Given the description of an element on the screen output the (x, y) to click on. 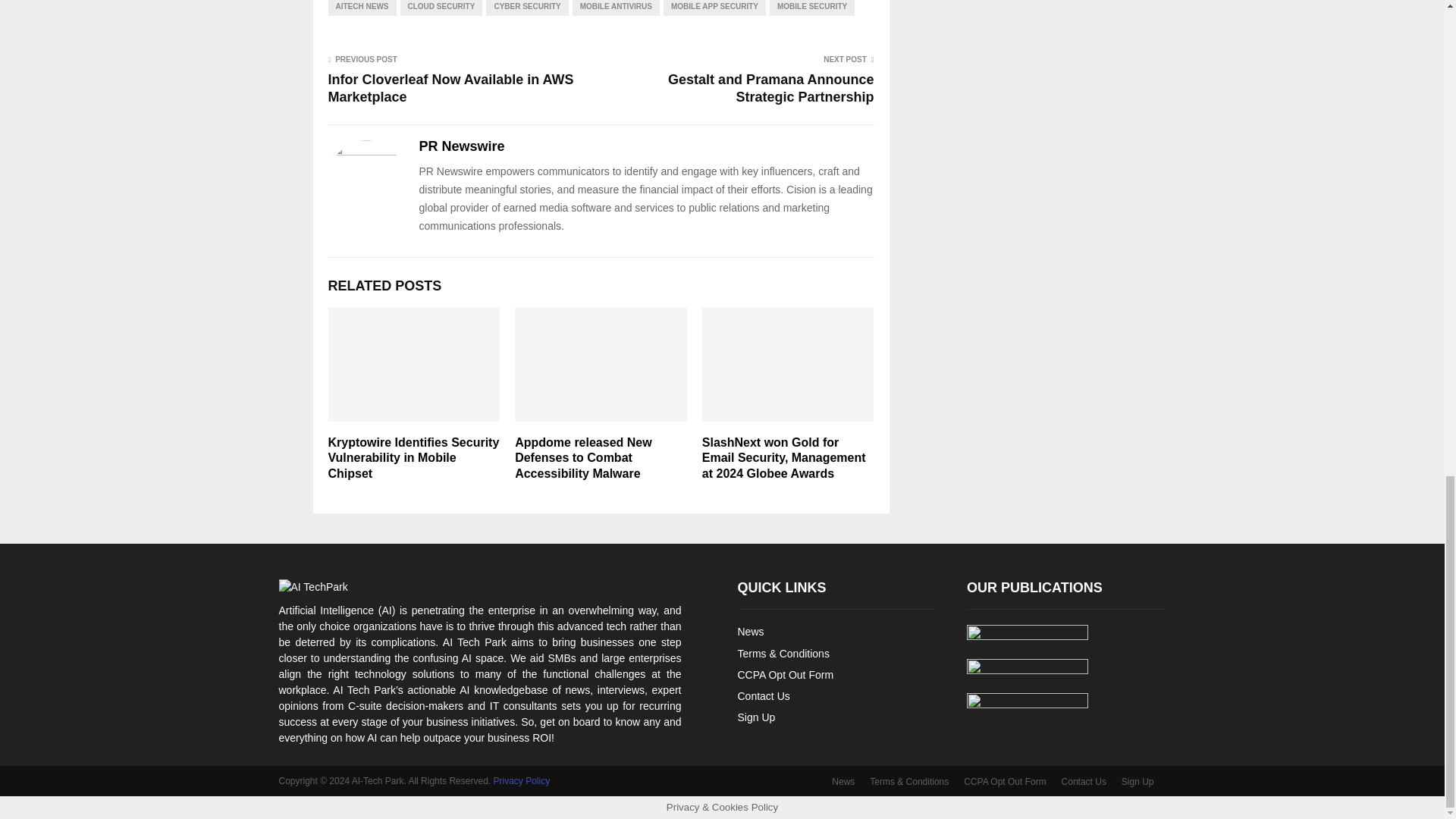
Posts by PR Newswire (461, 146)
